Given the description of an element on the screen output the (x, y) to click on. 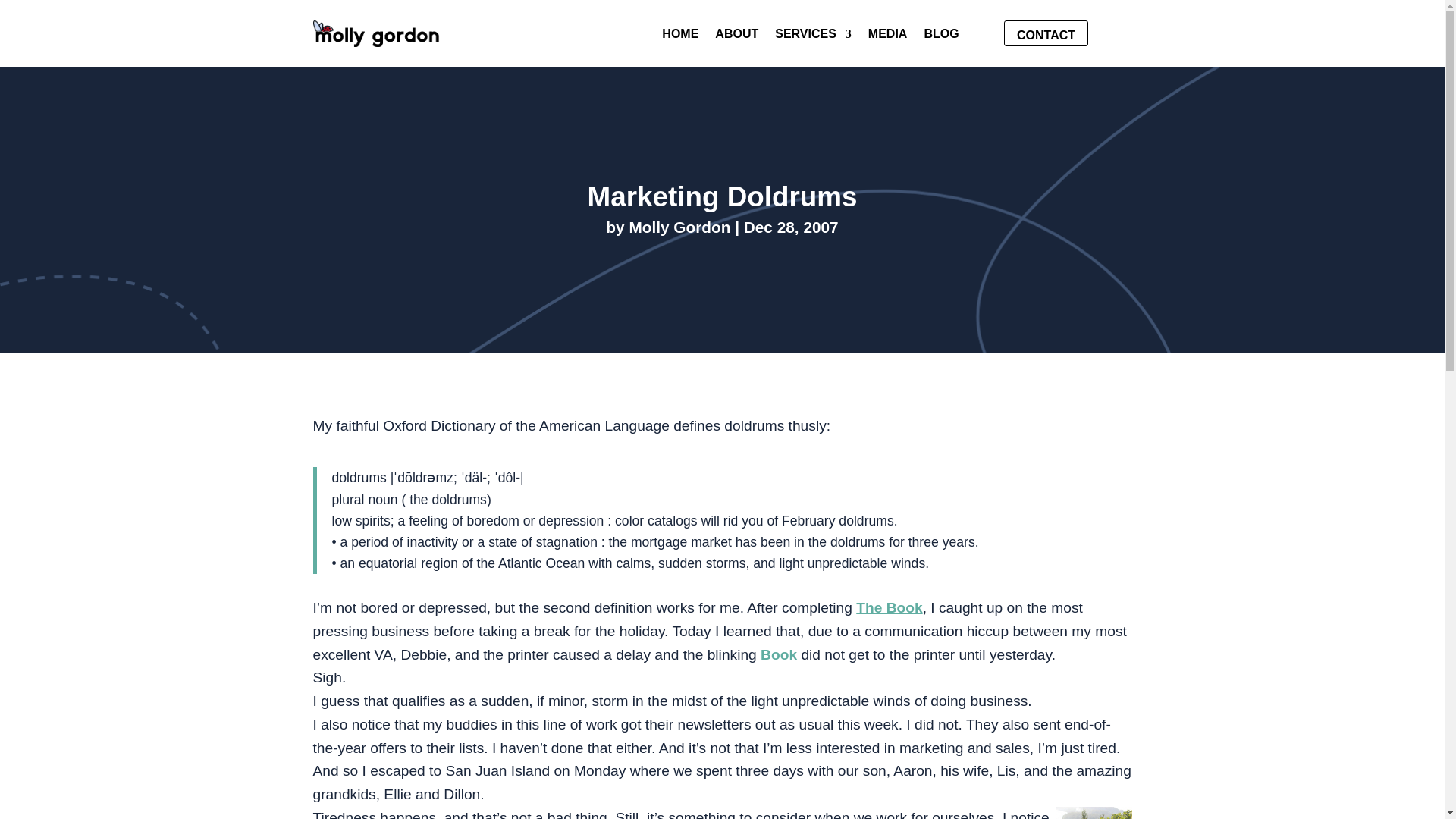
MEDIA (887, 36)
ABOUT (736, 36)
Posts by Molly Gordon (679, 226)
HOME (680, 36)
Book (778, 654)
CONTACT (1045, 32)
The Book (888, 607)
SERVICES (812, 36)
Molly Gordon (679, 226)
Molly Gordon logo (376, 33)
BLOG (940, 36)
